Given the description of an element on the screen output the (x, y) to click on. 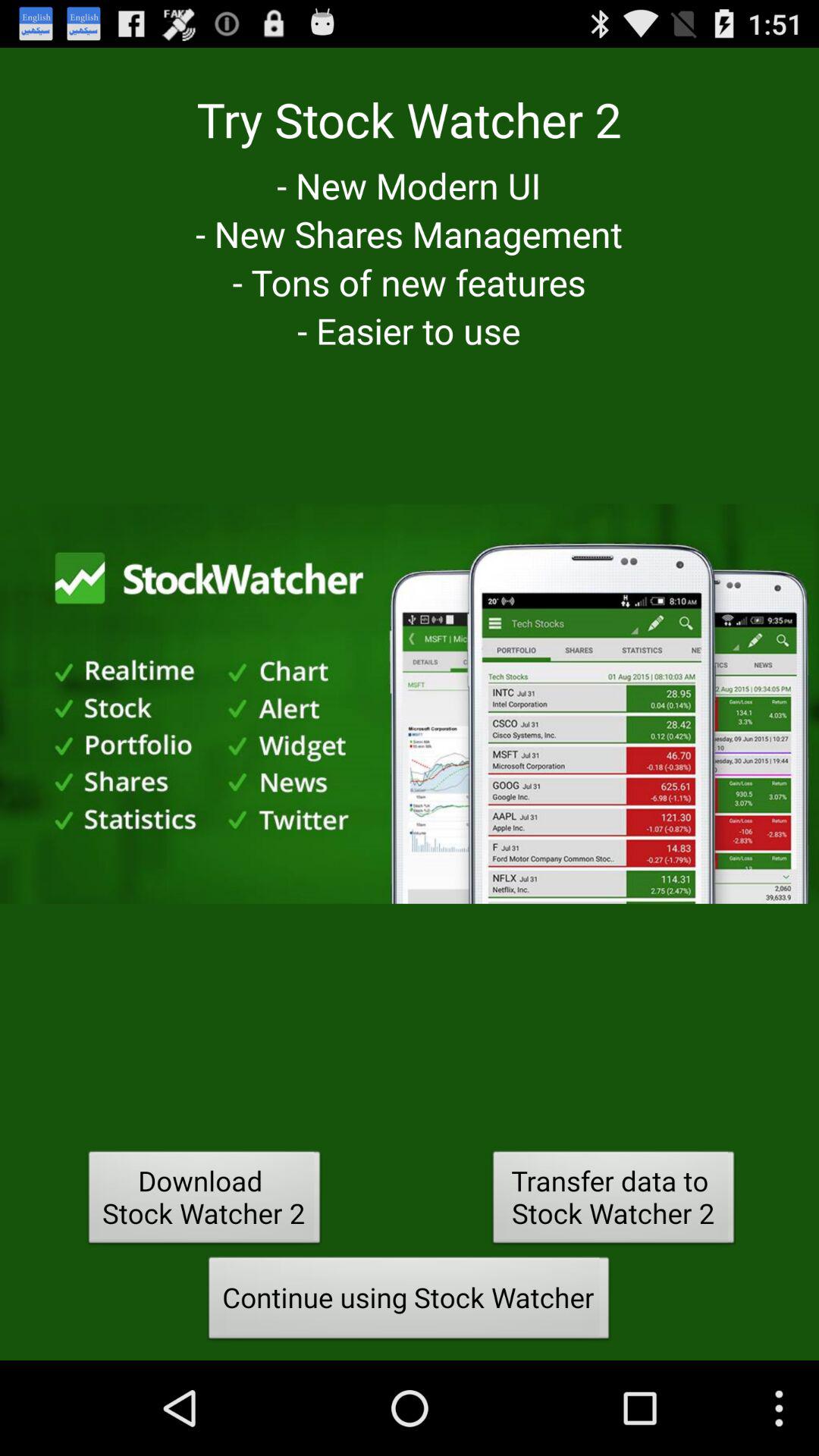
click item above the continue using stock item (613, 1201)
